Given the description of an element on the screen output the (x, y) to click on. 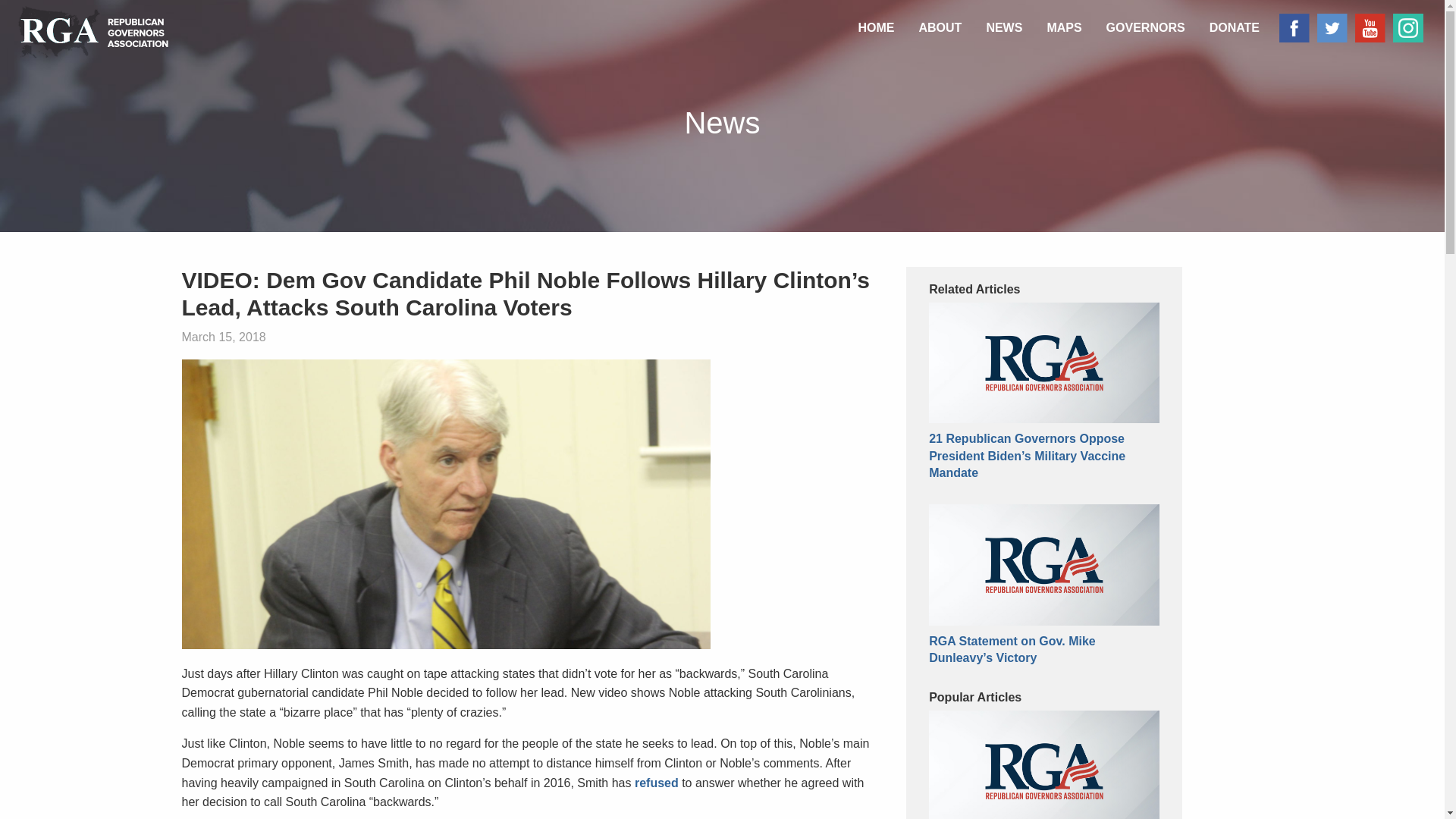
TW (1328, 27)
NEWS (1003, 27)
IG (1404, 27)
refused (656, 782)
DONATE (1233, 27)
YT (1367, 27)
ABOUT (939, 27)
HOME (875, 27)
GOVERNORS (1145, 27)
MAPS (1063, 27)
FB (1289, 27)
